Given the description of an element on the screen output the (x, y) to click on. 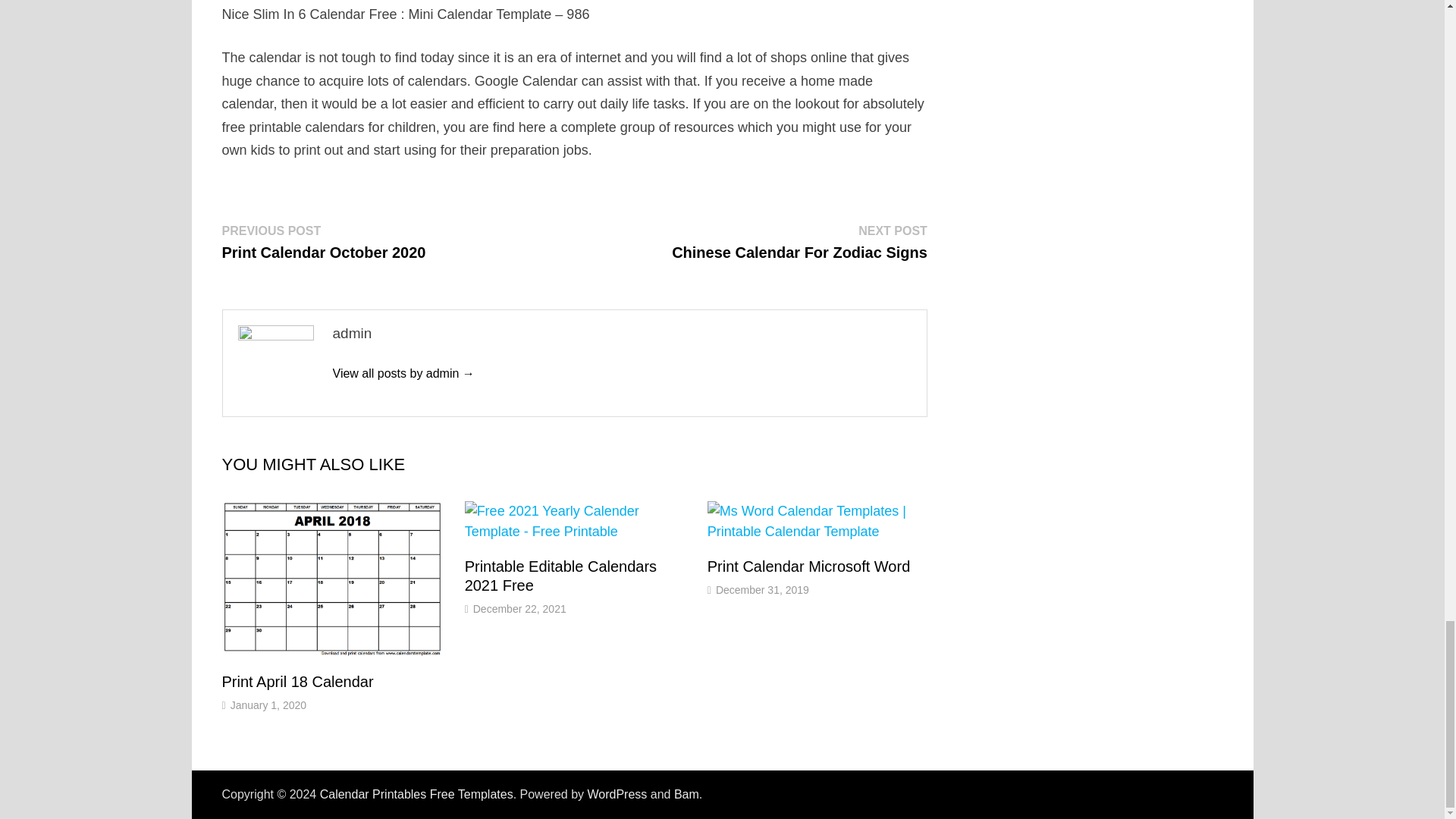
WordPress (616, 793)
Print Calendar Microsoft Word (809, 565)
Calendar Printables Free Templates (323, 241)
January 1, 2020 (416, 793)
December 22, 2021 (267, 705)
Print April 18 Calendar (519, 608)
Bam (296, 681)
Print Calendar Microsoft Word (686, 793)
